Given the description of an element on the screen output the (x, y) to click on. 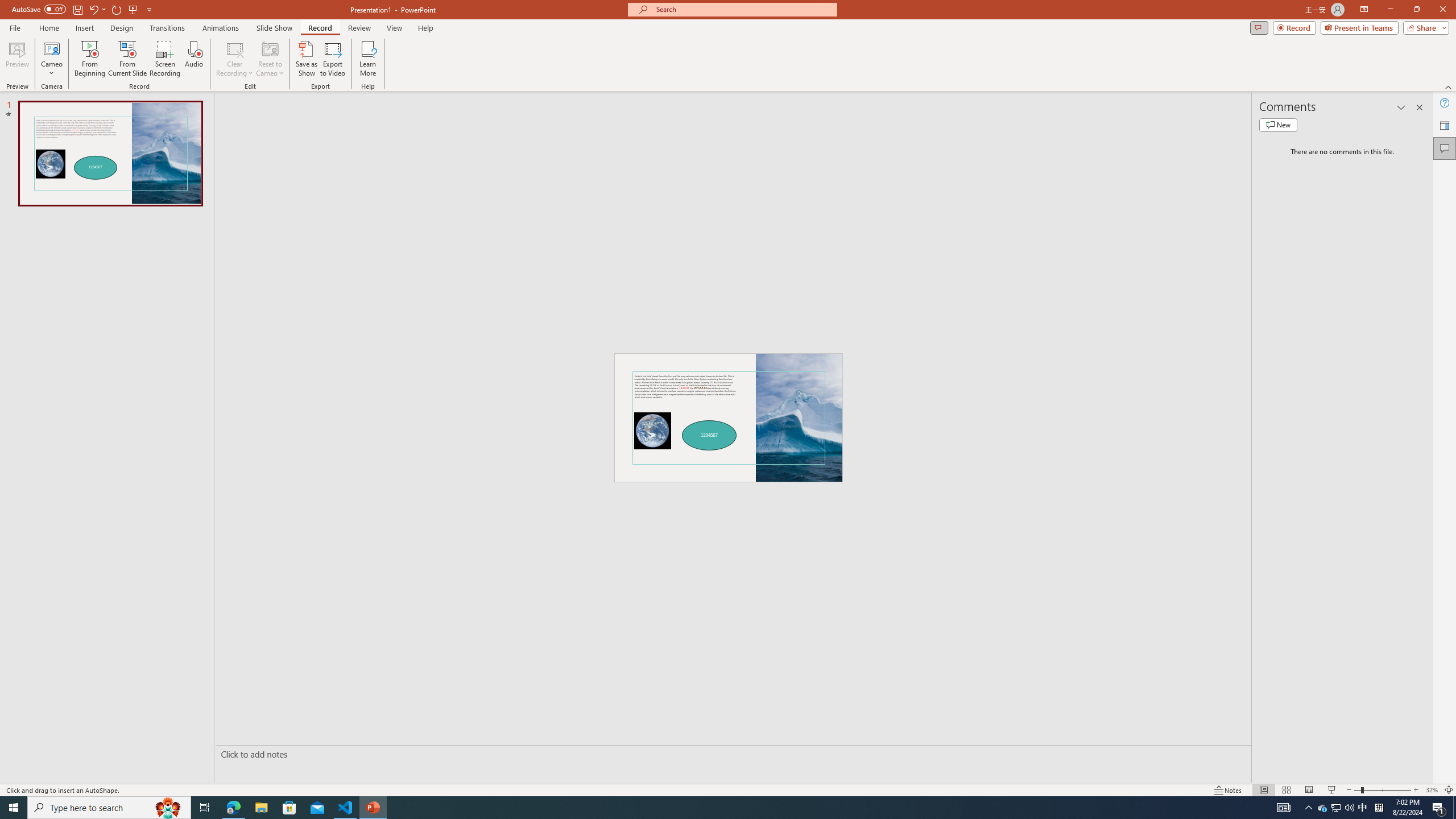
Close pane (1419, 107)
